Given the description of an element on the screen output the (x, y) to click on. 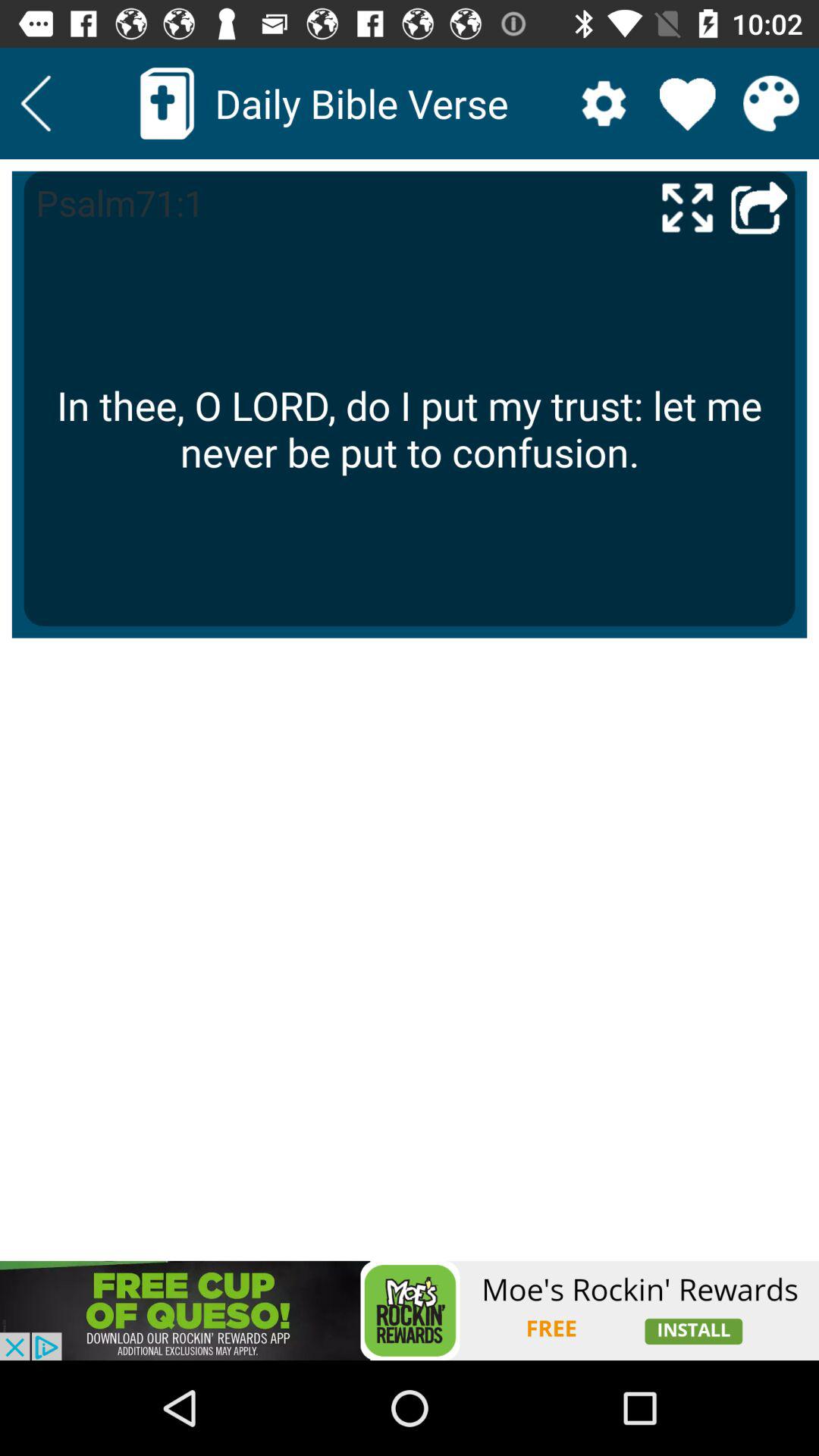
expand the image (687, 206)
